Given the description of an element on the screen output the (x, y) to click on. 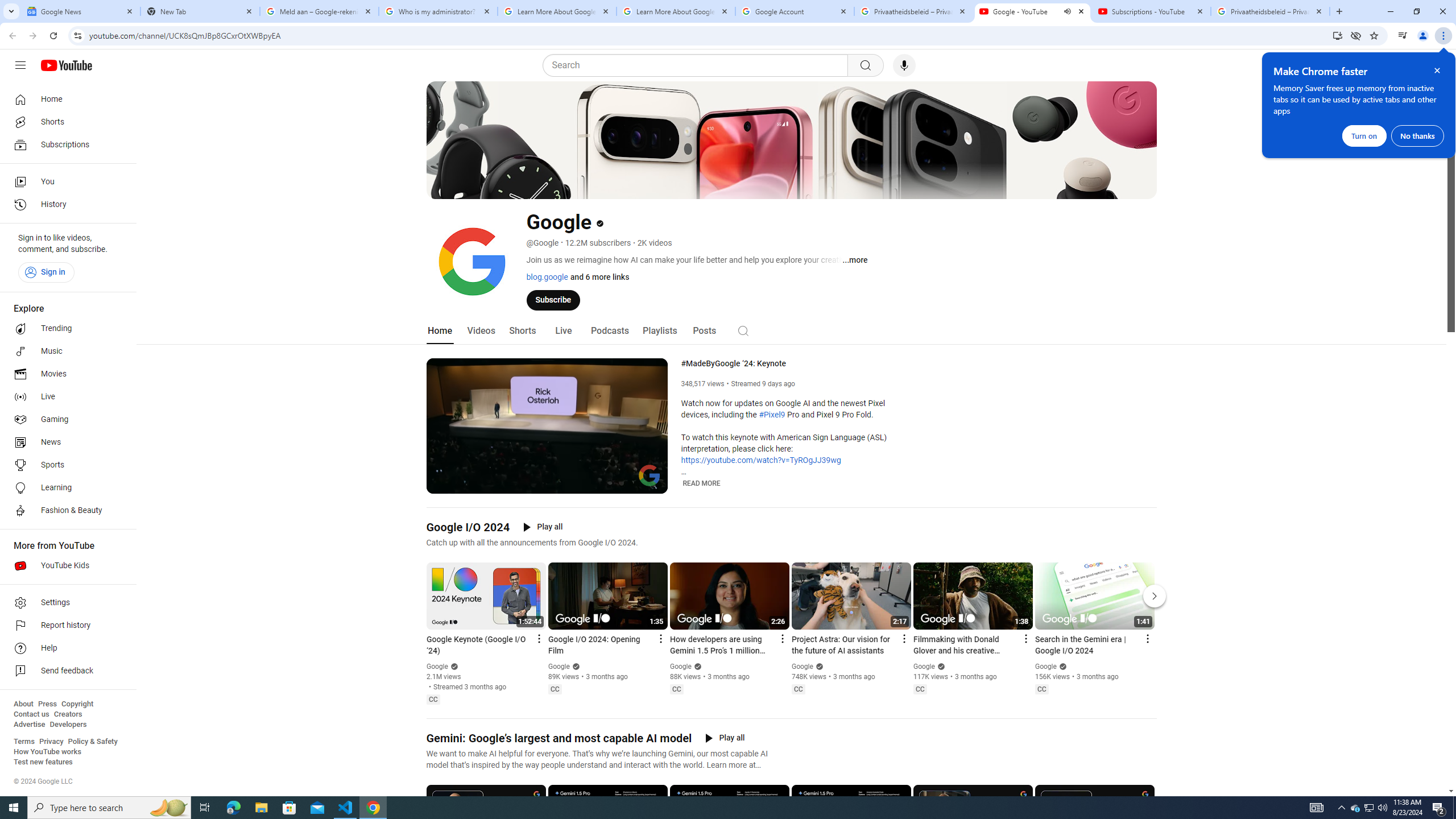
Subtitles/closed captions unavailable (609, 483)
Channel watermark (649, 475)
Mute tab (1066, 10)
Live (562, 330)
Google Account (794, 11)
Fashion & Beauty (64, 510)
Google I/O 2024 (467, 526)
Creators (67, 714)
History (64, 204)
Subscribe (552, 299)
